Given the description of an element on the screen output the (x, y) to click on. 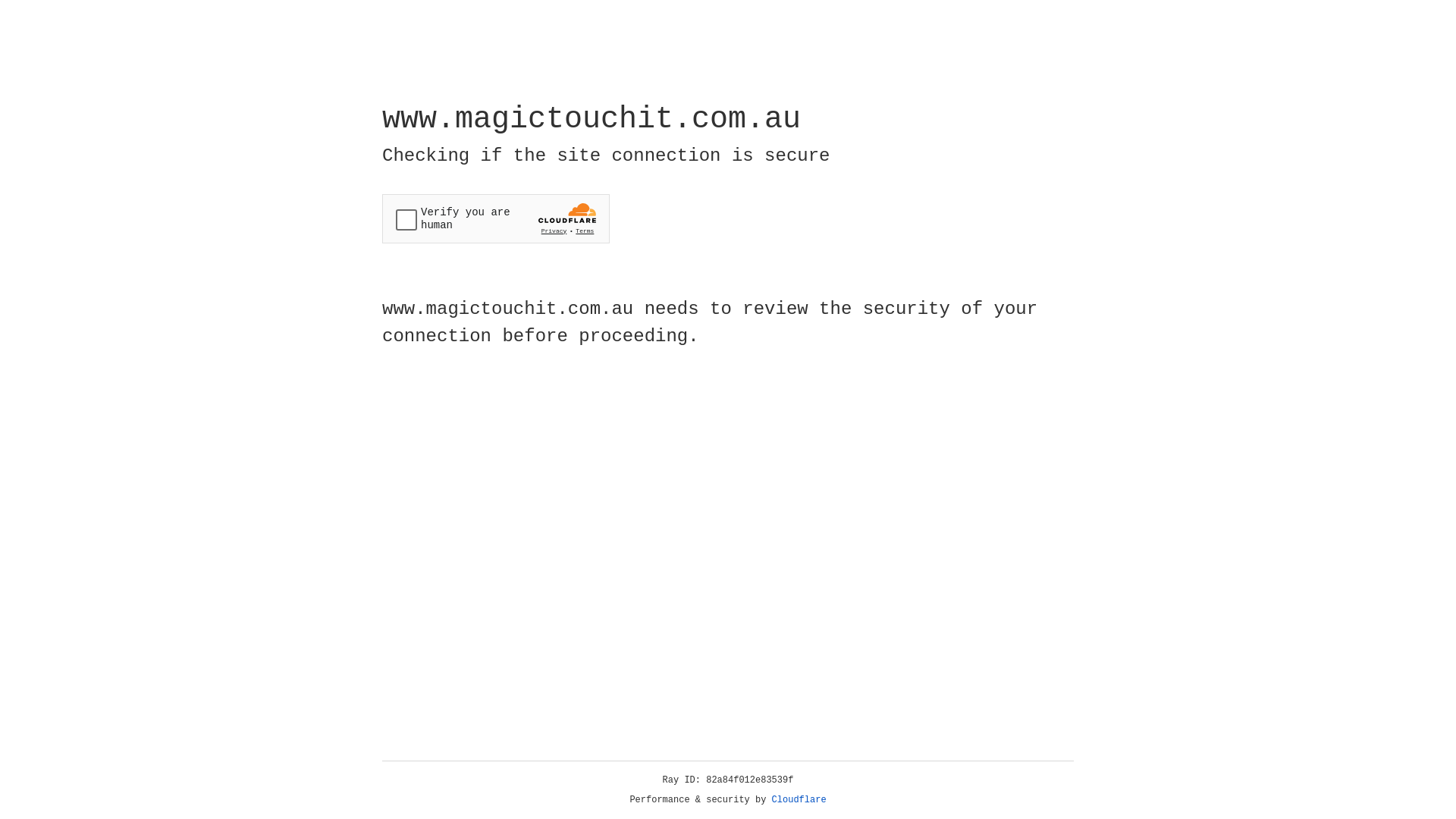
Widget containing a Cloudflare security challenge Element type: hover (495, 218)
Cloudflare Element type: text (798, 799)
